Given the description of an element on the screen output the (x, y) to click on. 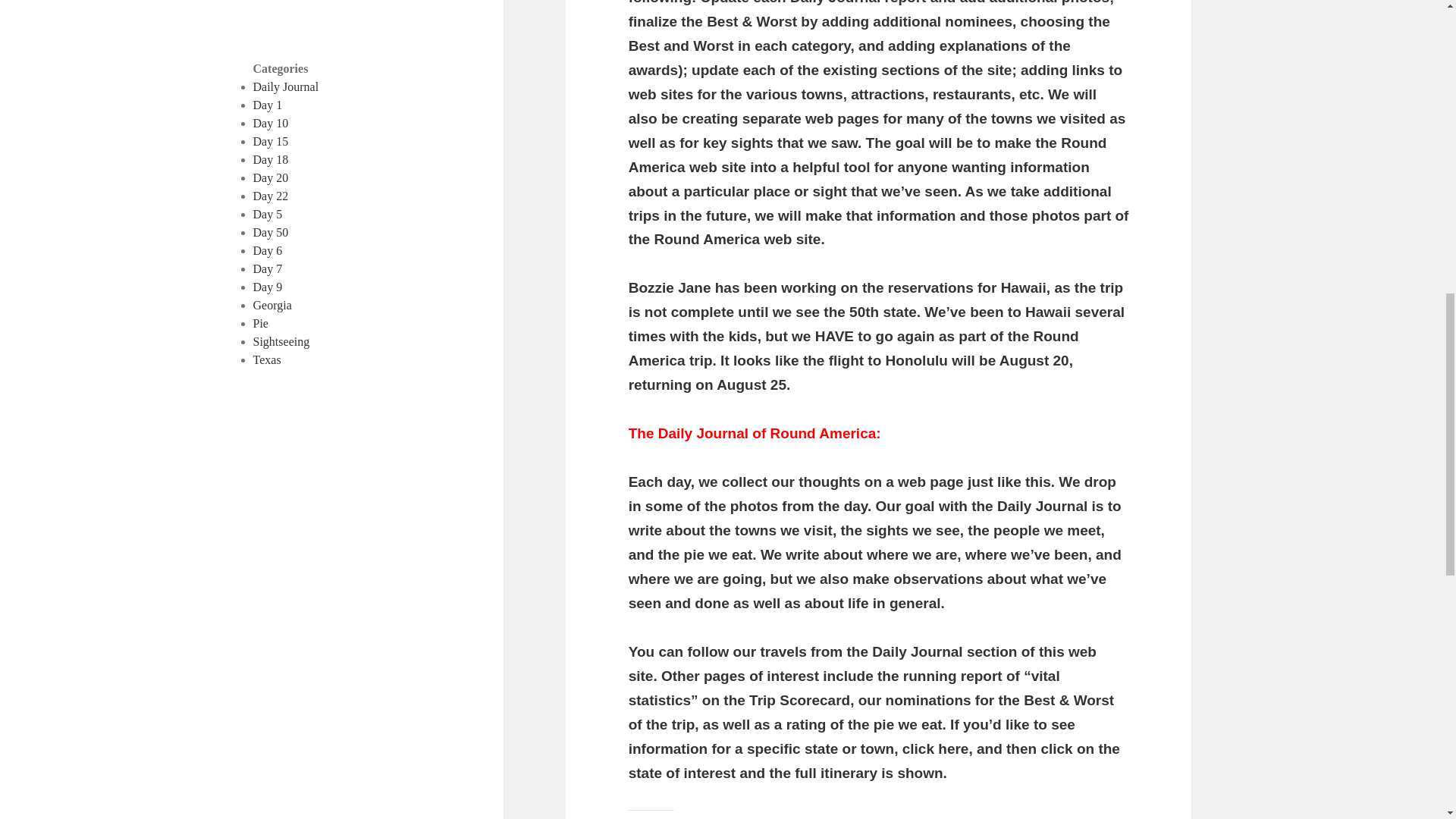
Day 9 (267, 286)
Sightseeing (281, 341)
Day 18 (270, 159)
Day 1 (267, 104)
Texas (267, 359)
Day 50 (270, 232)
Pie (260, 323)
Day 22 (270, 195)
Georgia (272, 305)
Daily Journal (285, 86)
